Given the description of an element on the screen output the (x, y) to click on. 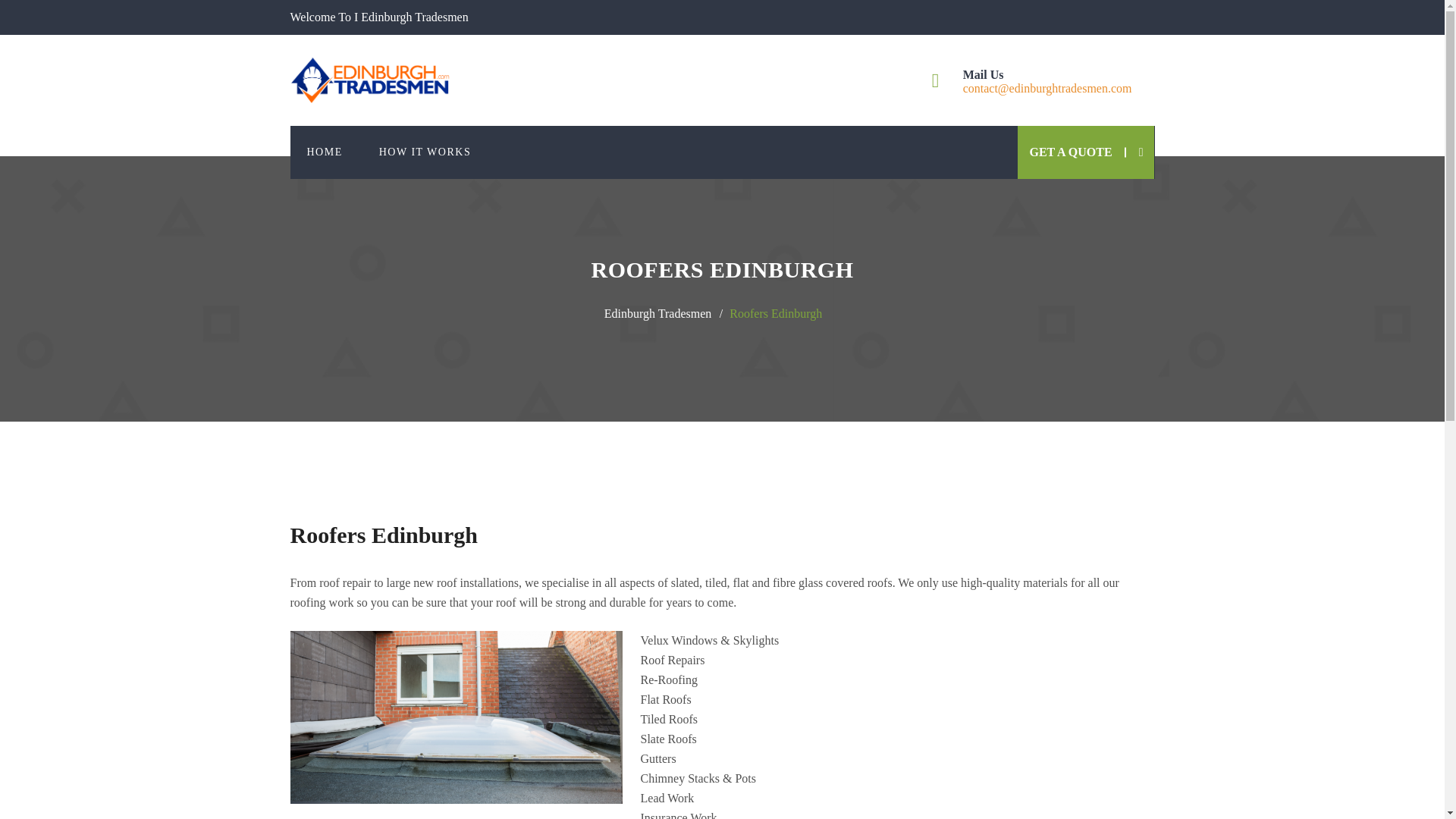
GET A QUOTE (1070, 152)
HOW IT WORKS (424, 152)
Edinburgh Tradesmen (662, 312)
Go to Edinburgh Tradesmen. (662, 312)
